Given the description of an element on the screen output the (x, y) to click on. 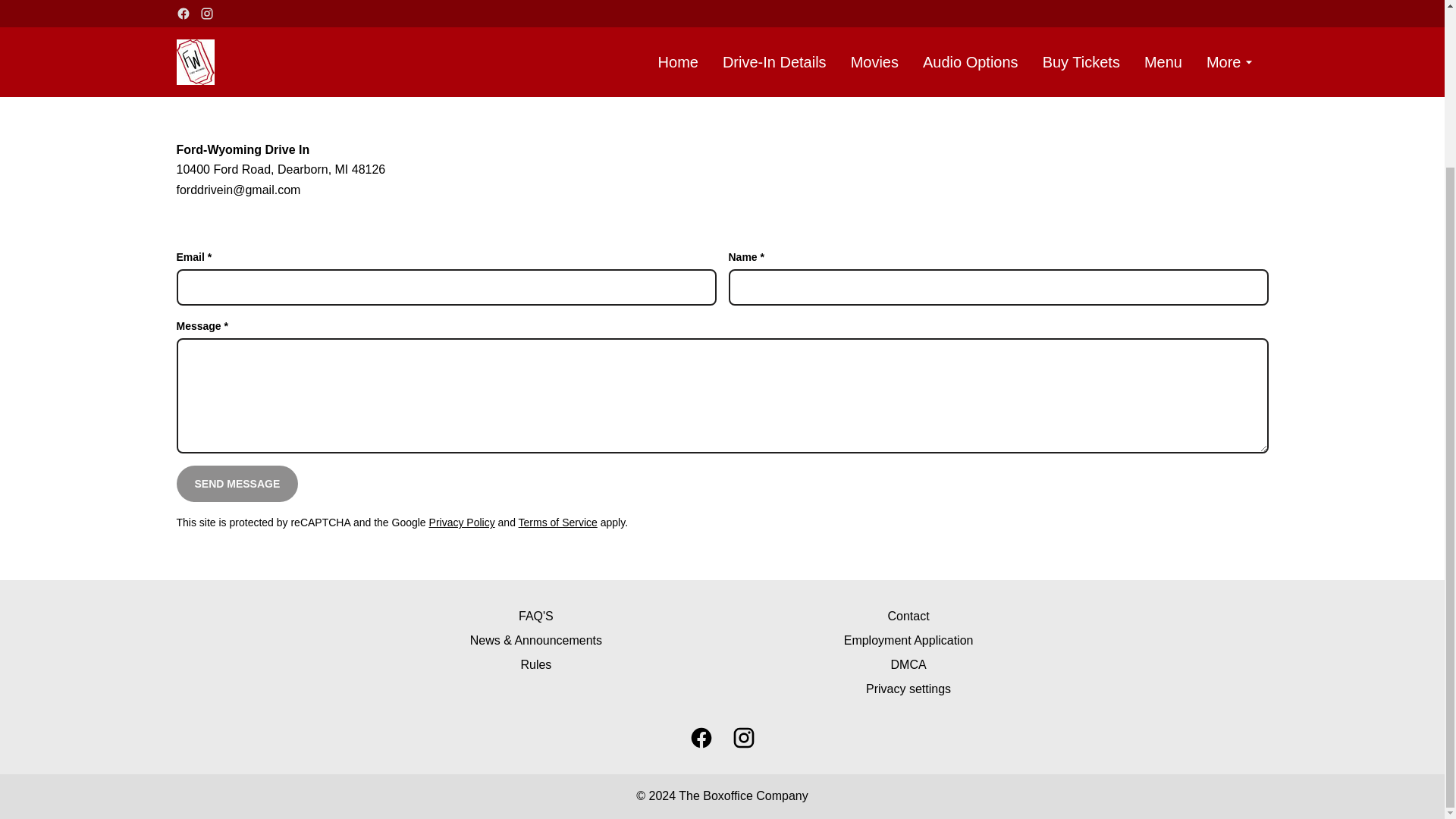
Contact (907, 616)
Employment Application (907, 640)
DMCA (907, 664)
Terms of Service (557, 522)
SEND MESSAGE (237, 484)
Privacy Policy (462, 522)
Privacy settings (907, 689)
FAQ'S (535, 616)
Rules (535, 664)
